Given the description of an element on the screen output the (x, y) to click on. 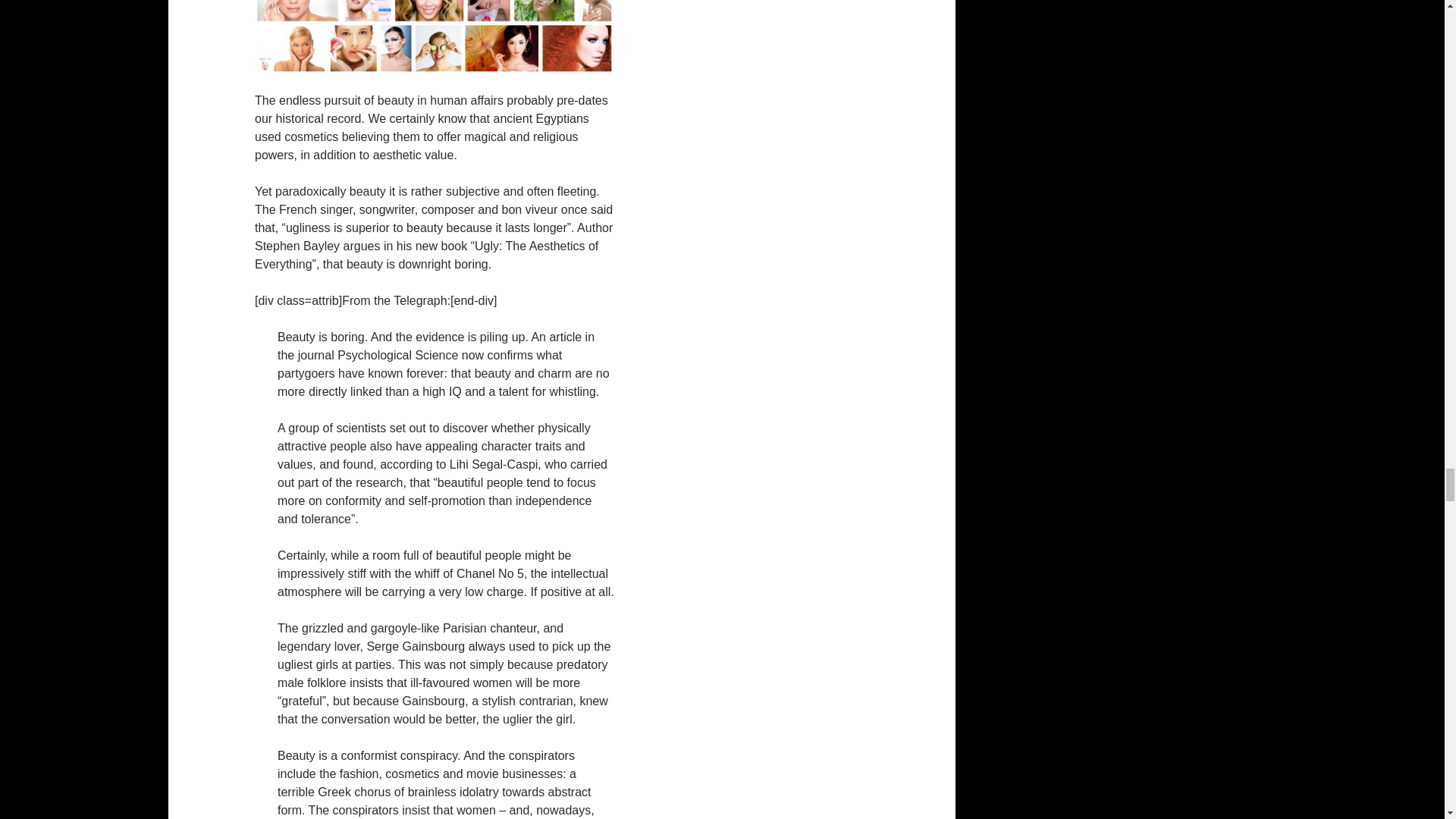
google-beauty.jpg (434, 36)
